Given the description of an element on the screen output the (x, y) to click on. 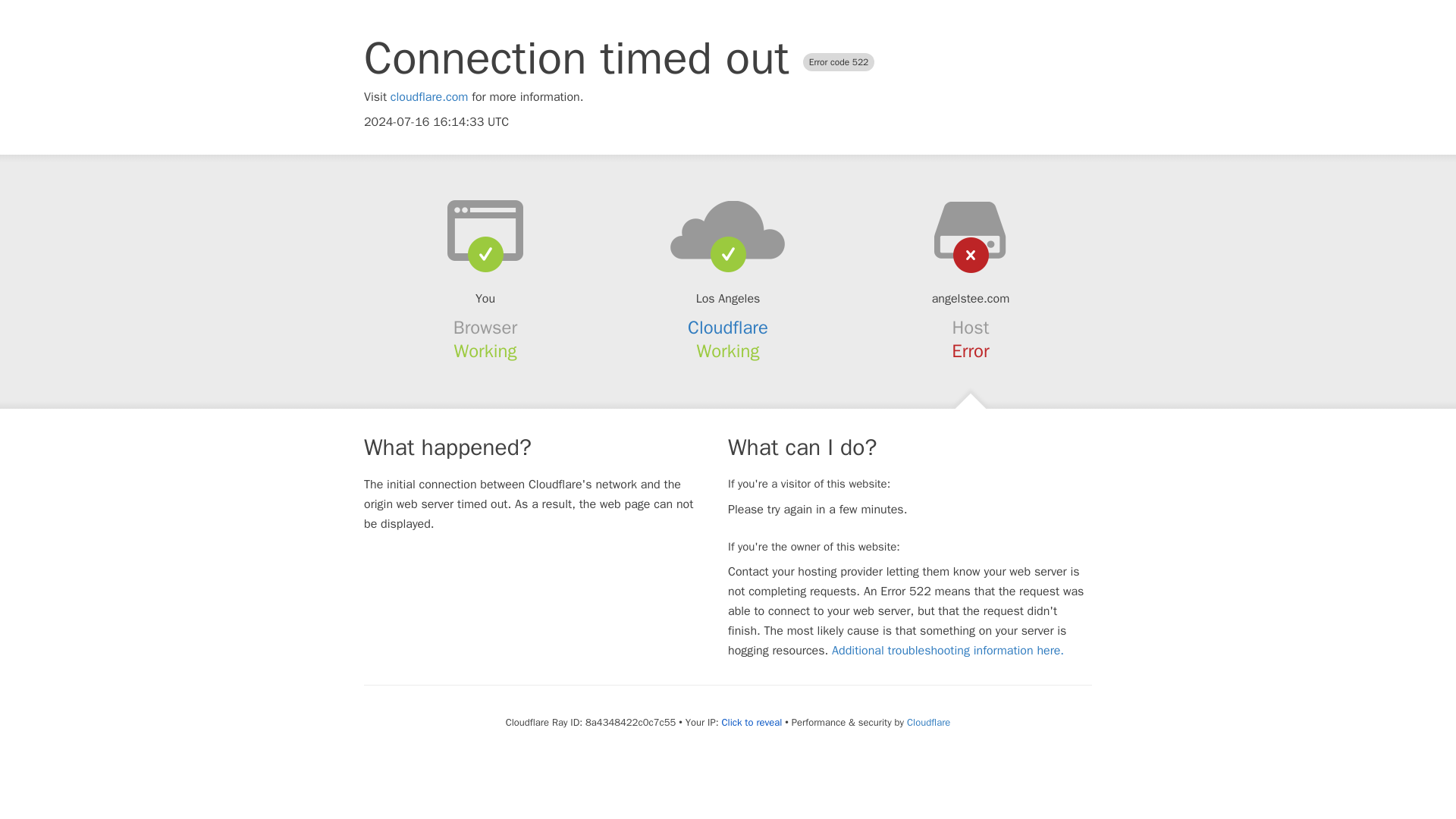
cloudflare.com (429, 96)
Click to reveal (750, 722)
Additional troubleshooting information here. (947, 650)
Cloudflare (727, 327)
Cloudflare (928, 721)
